Given the description of an element on the screen output the (x, y) to click on. 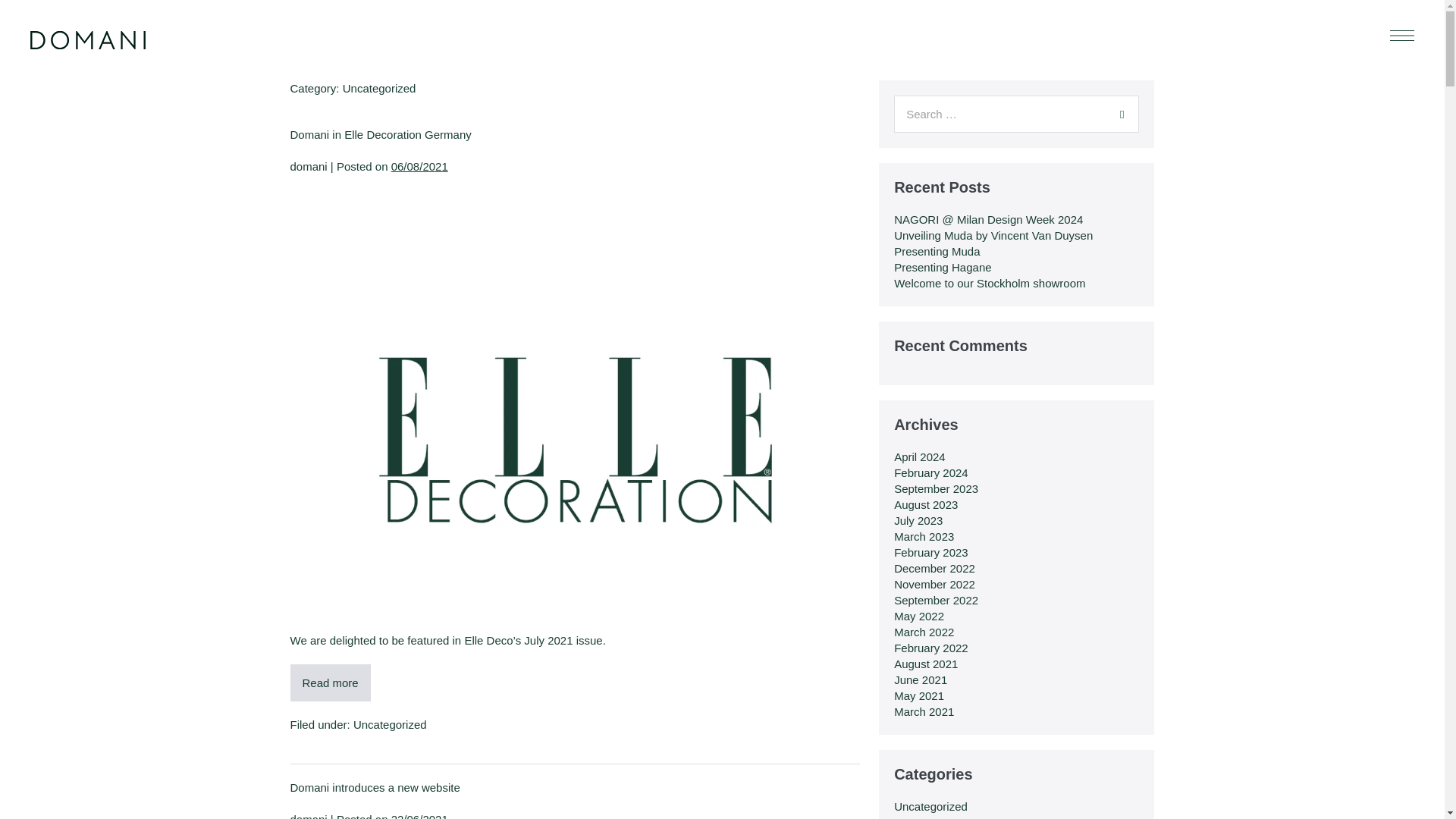
Domani introduces a new website (374, 787)
View all posts by domani (307, 165)
View all posts by domani (307, 816)
HAMBURGER (1403, 34)
Domani in Elle Decoration Germany (379, 133)
DOMANI (87, 40)
